Given the description of an element on the screen output the (x, y) to click on. 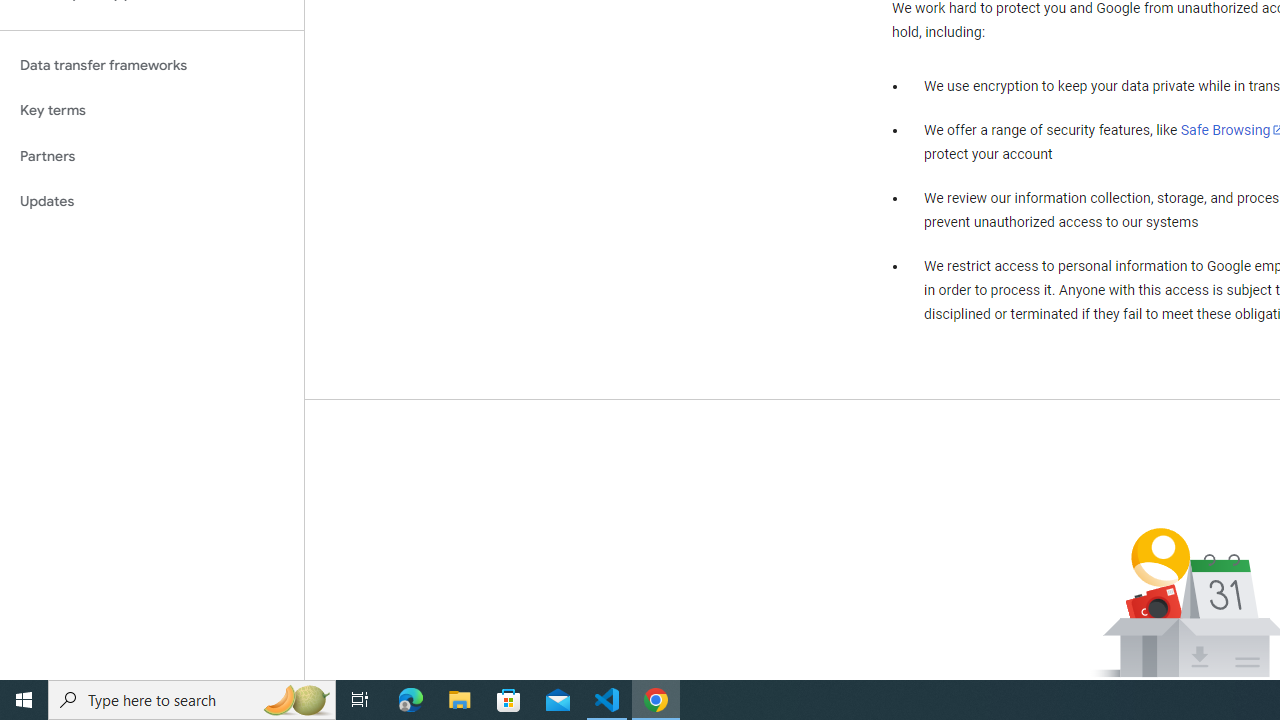
Partners (152, 156)
Key terms (152, 110)
Data transfer frameworks (152, 65)
